Given the description of an element on the screen output the (x, y) to click on. 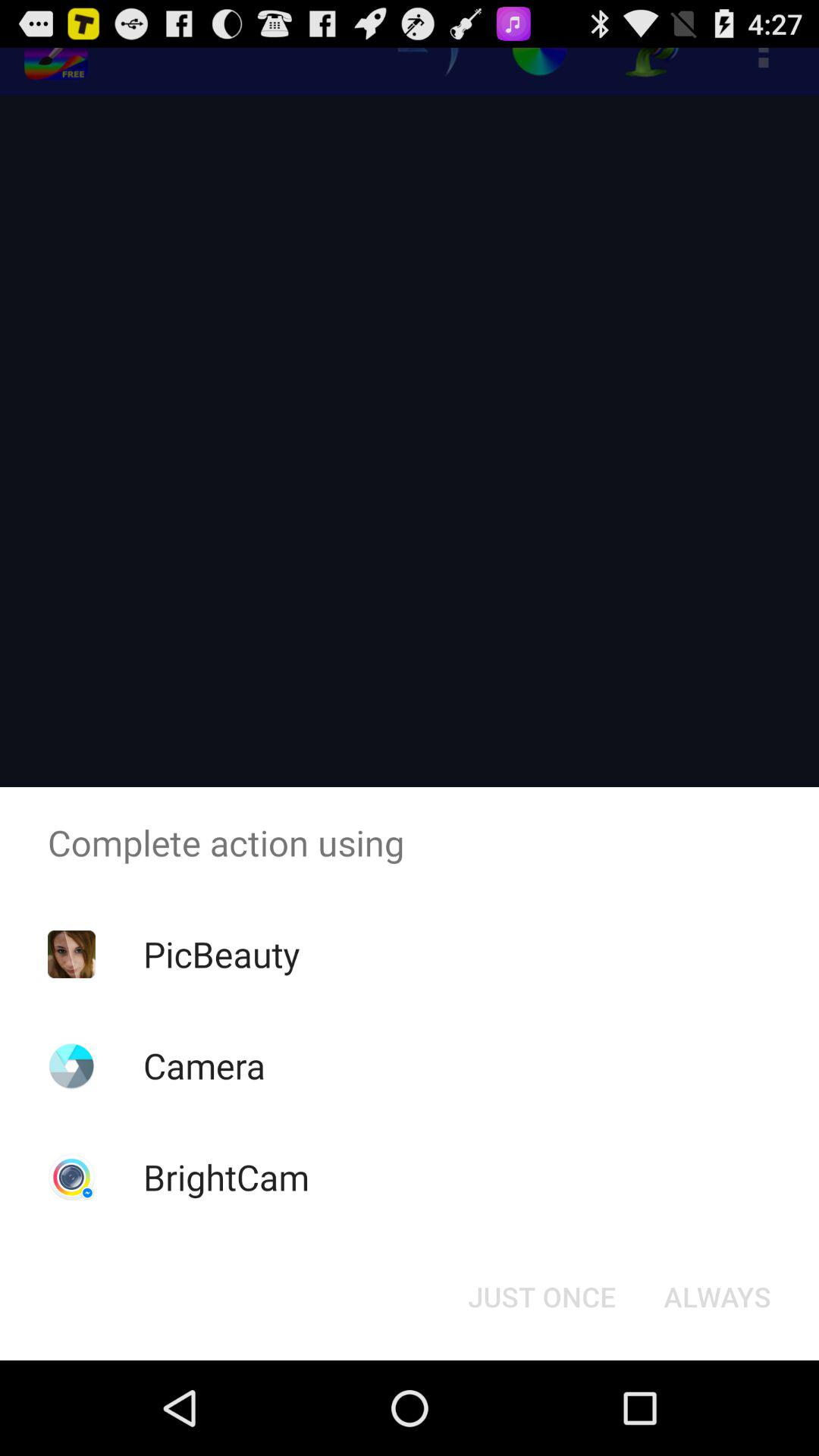
turn on app below the complete action using app (221, 953)
